Given the description of an element on the screen output the (x, y) to click on. 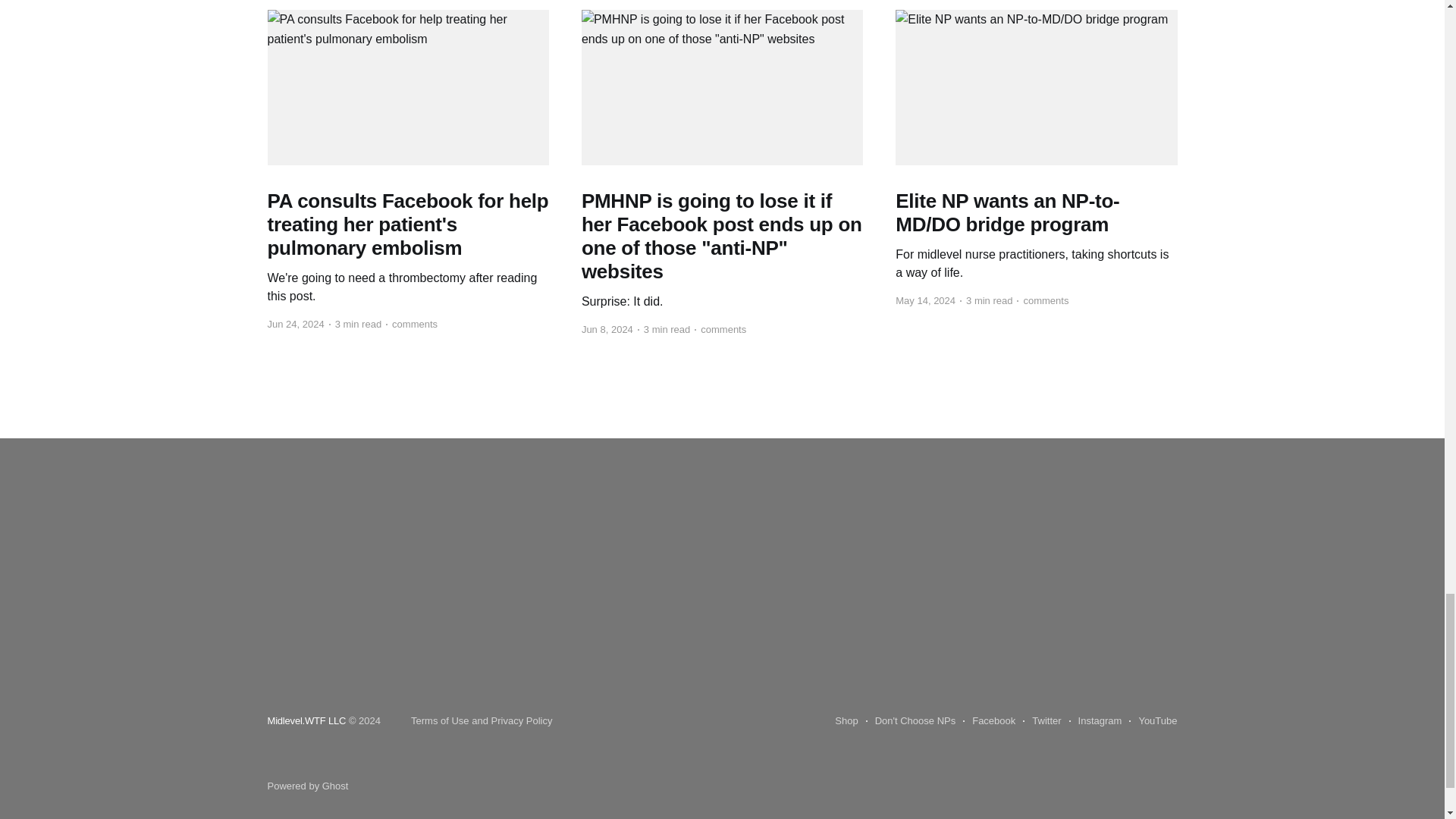
Privacy Policy (522, 720)
comments (411, 324)
Midlevel.WTF LLC (306, 720)
comments (1042, 301)
Terms of Use (439, 720)
comments (719, 329)
Shop (845, 721)
Twitter (1042, 721)
Facebook (988, 721)
Powered by Ghost (306, 785)
YouTube (1152, 721)
Instagram (1095, 721)
Don't Choose NPs (911, 721)
